Given the description of an element on the screen output the (x, y) to click on. 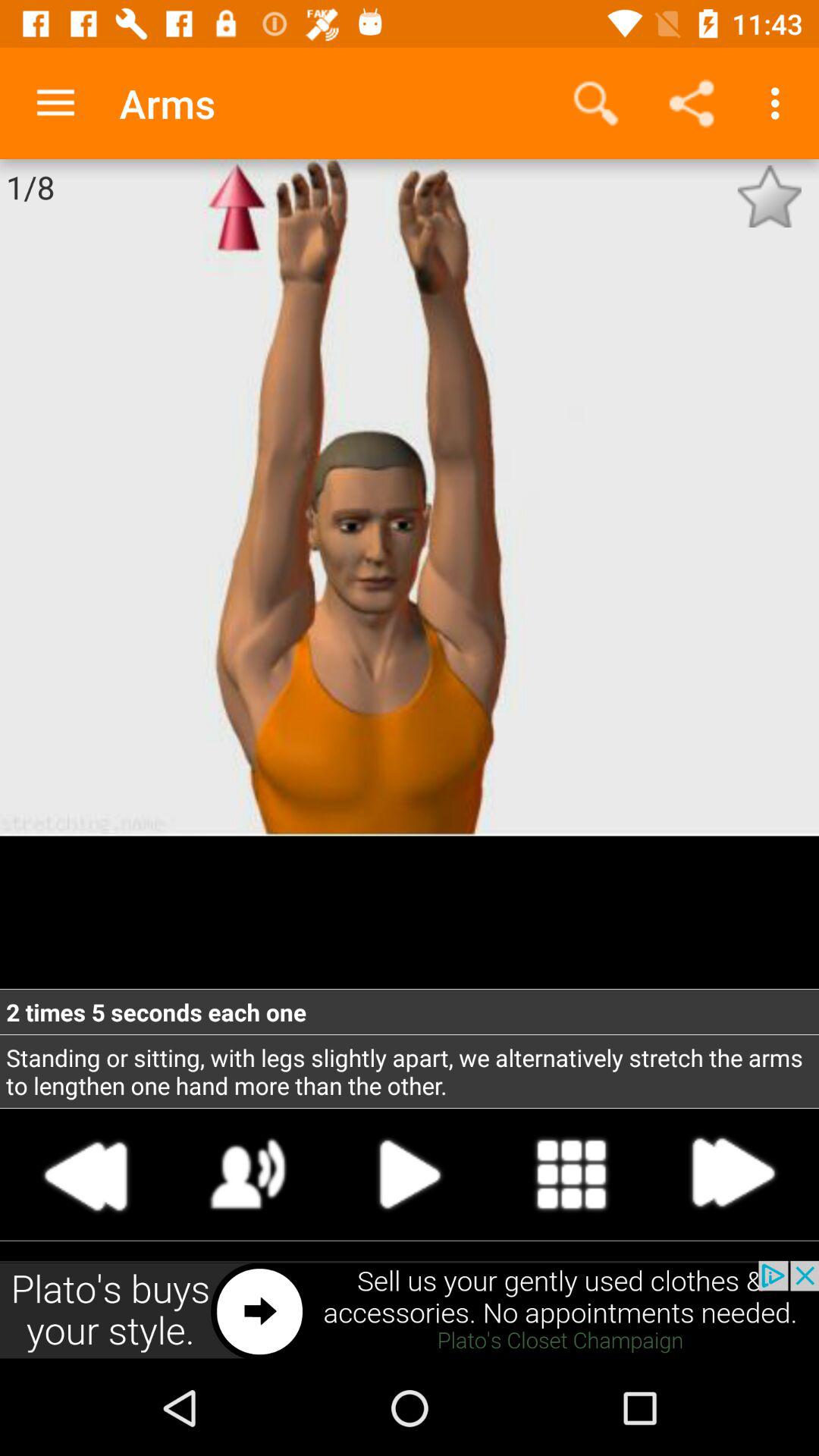
skip ahead (731, 1174)
